Given the description of an element on the screen output the (x, y) to click on. 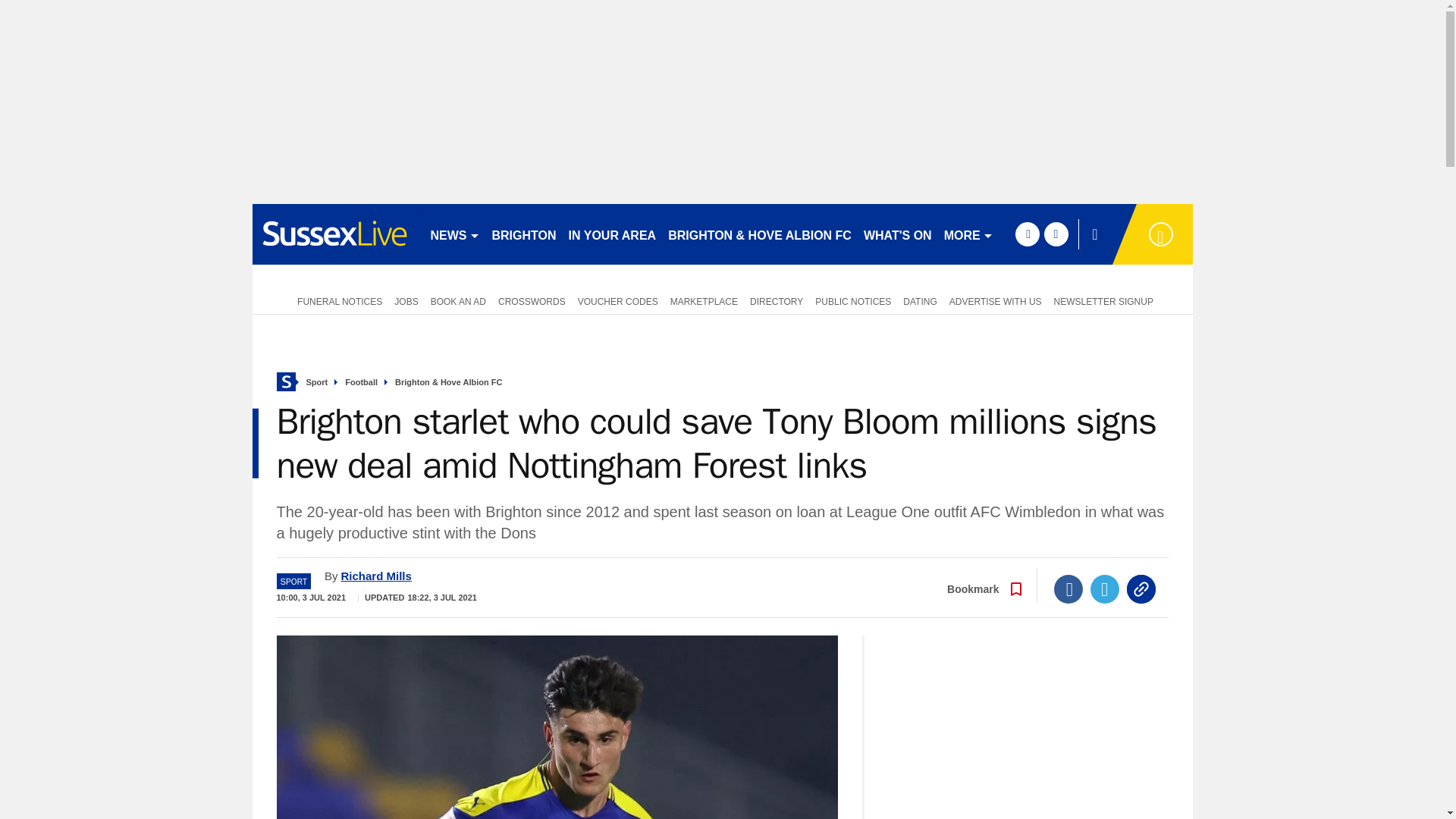
BRIGHTON (523, 233)
WHAT'S ON (897, 233)
facebook (1026, 233)
IN YOUR AREA (612, 233)
MORE (967, 233)
CROSSWORDS (532, 300)
PUBLIC NOTICES (852, 300)
VOUCHER CODES (617, 300)
BOOK AN AD (458, 300)
twitter (1055, 233)
